Given the description of an element on the screen output the (x, y) to click on. 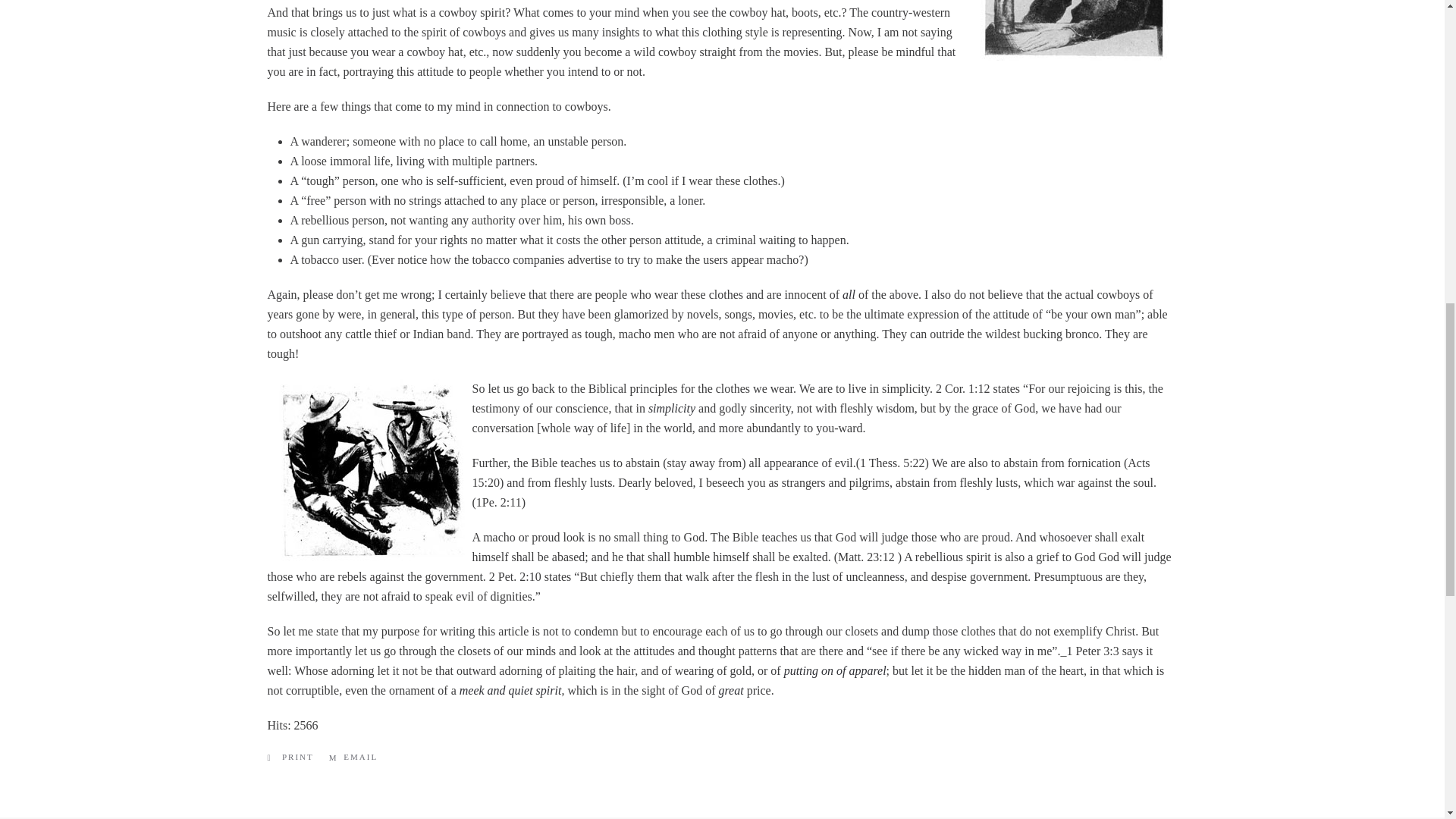
Email this link to a friend (353, 757)
